Given the description of an element on the screen output the (x, y) to click on. 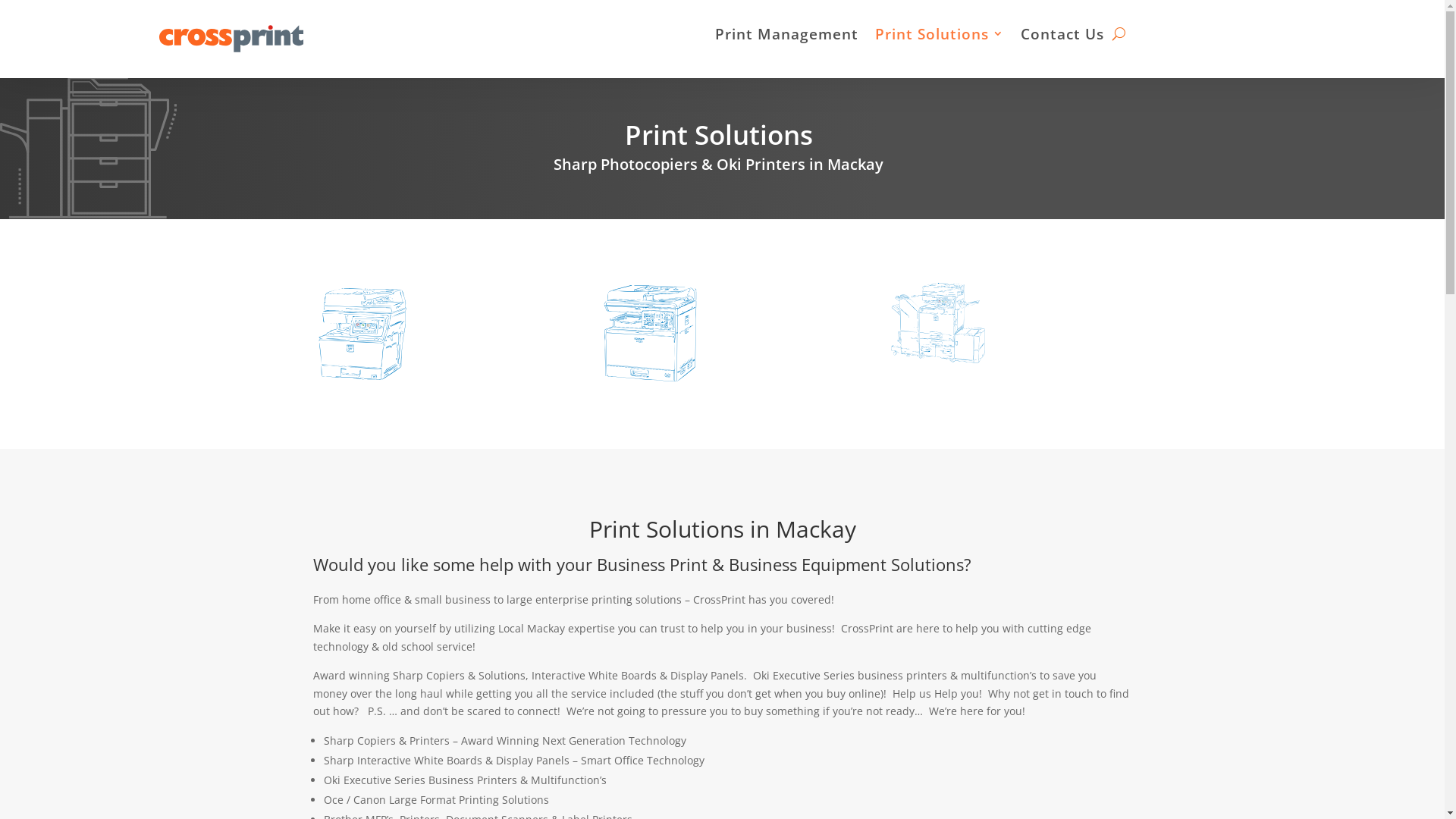
Print Solutions Element type: text (939, 36)
Contact Us Element type: text (1062, 36)
Print Management Element type: text (786, 36)
